Given the description of an element on the screen output the (x, y) to click on. 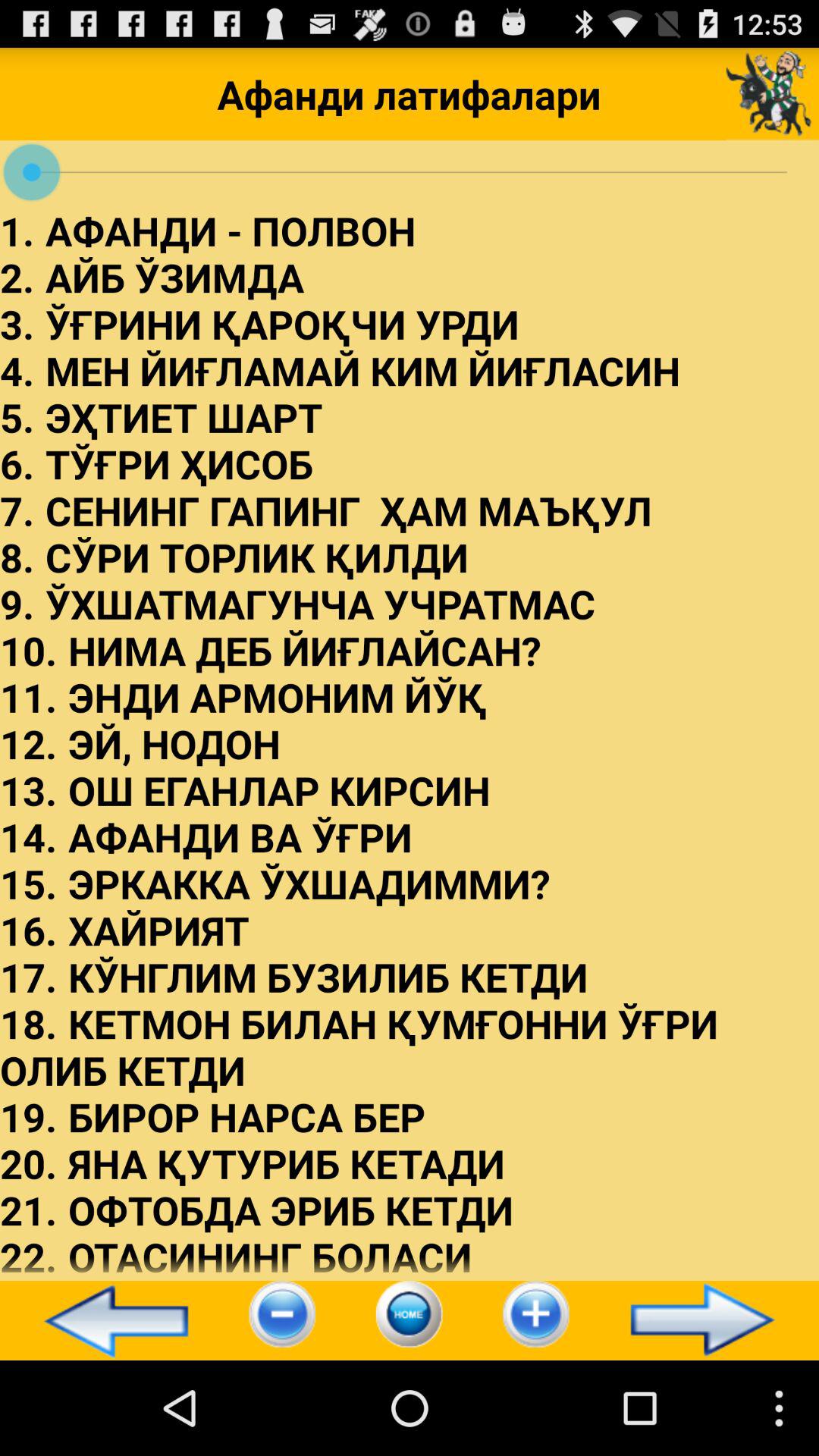
select the icon at the bottom right corner (709, 1320)
